Given the description of an element on the screen output the (x, y) to click on. 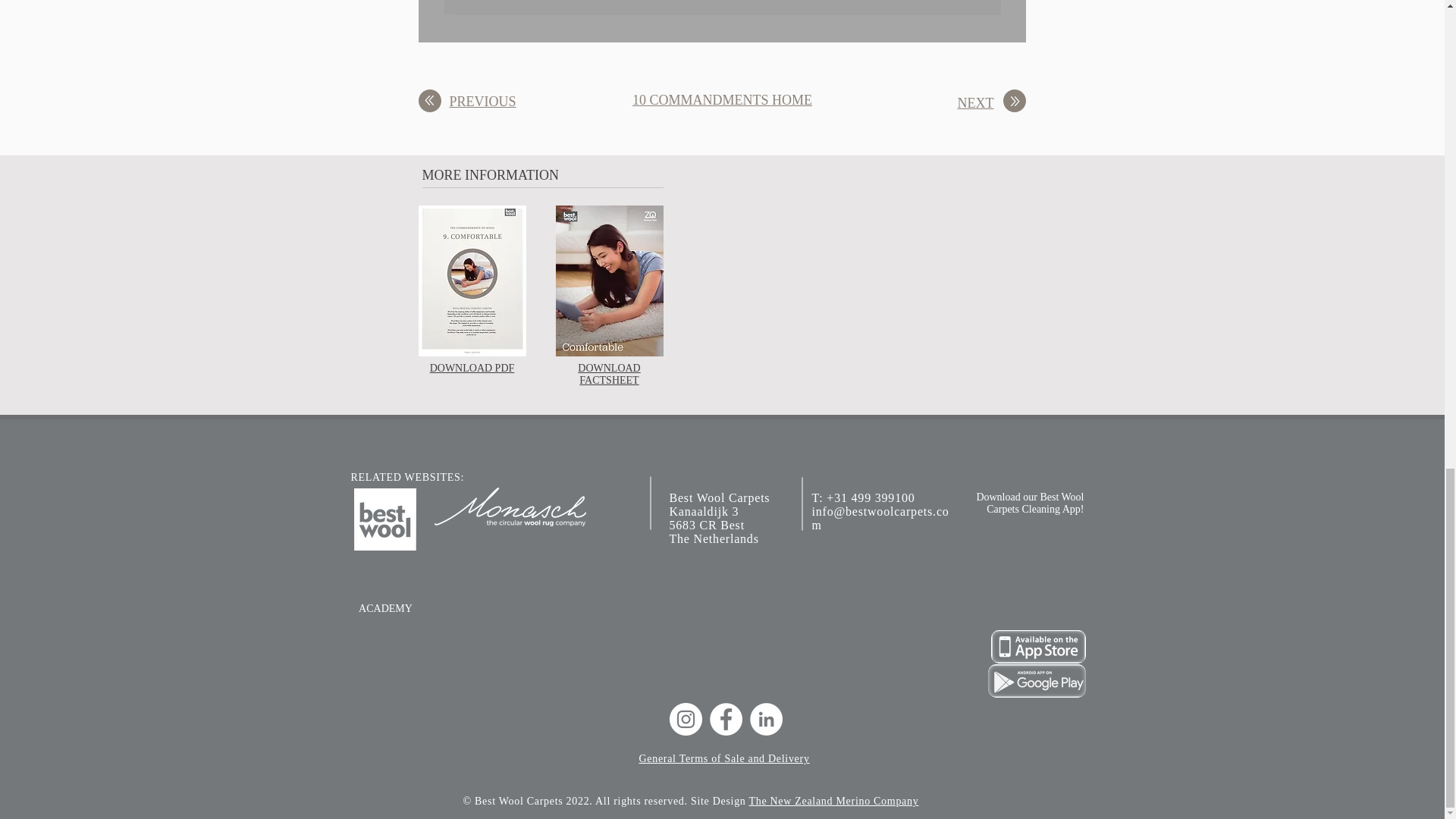
google-play.png (1035, 680)
10 COMMANDMENTS HOME (721, 99)
DOWNLOAD PDF (472, 367)
NEXT (974, 102)
PREVIOUS (481, 101)
DOWNLOAD FACTSHEET (609, 373)
google-play.png (1037, 646)
